Given the description of an element on the screen output the (x, y) to click on. 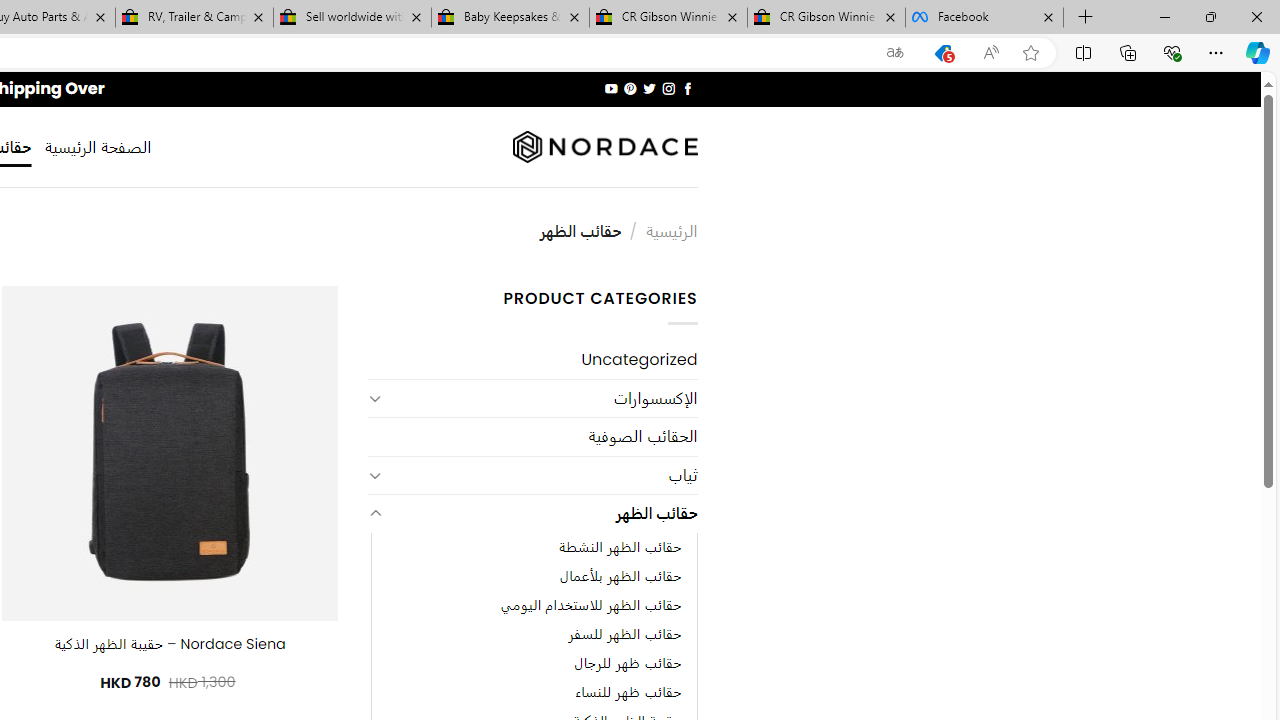
RV, Trailer & Camper Steps & Ladders for sale | eBay (194, 17)
Follow on YouTube (611, 88)
Uncategorized (532, 359)
